Given the description of an element on the screen output the (x, y) to click on. 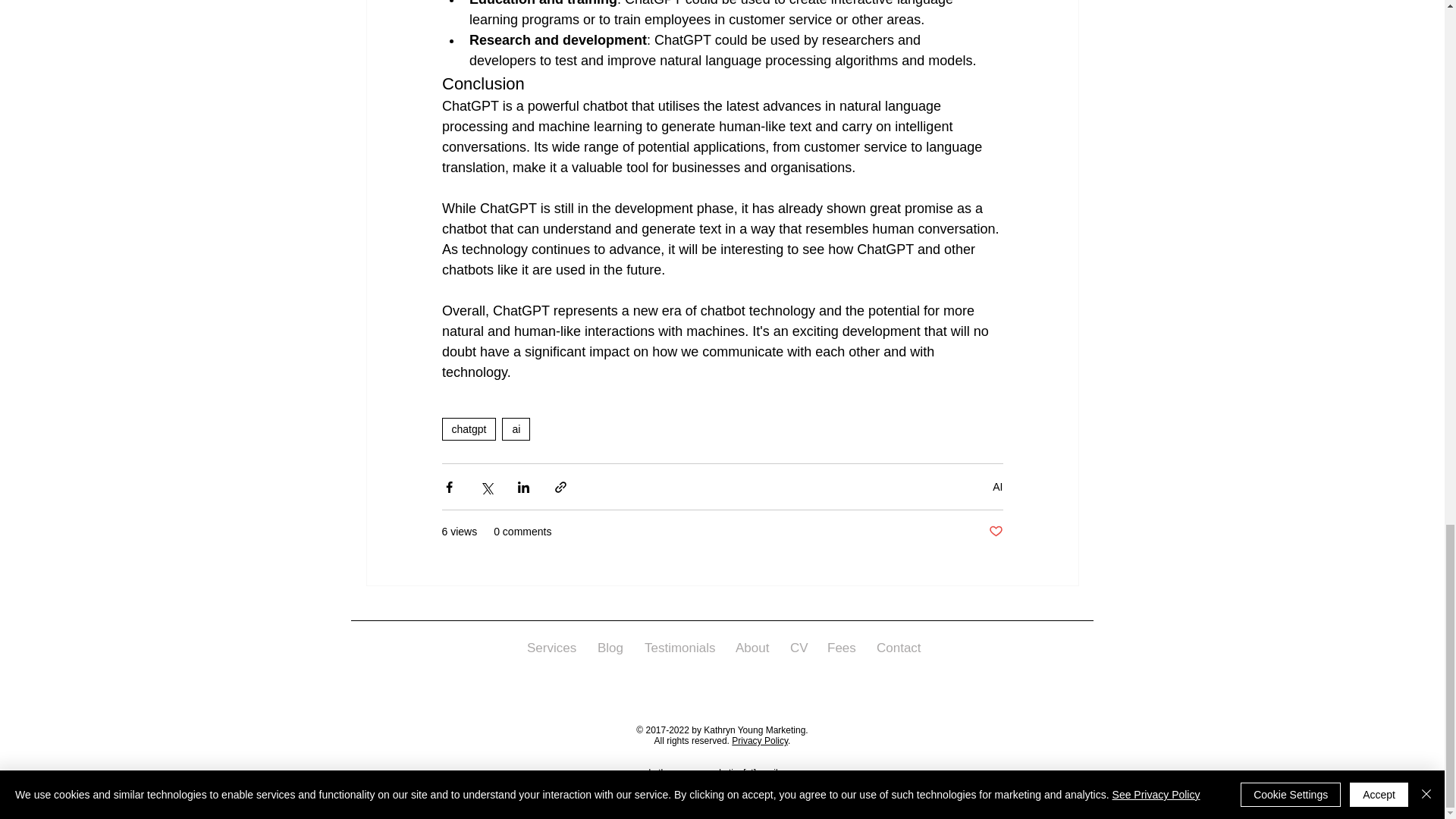
ai (515, 428)
Post not marked as liked (995, 531)
Testimonials (678, 648)
Fees (839, 648)
About (750, 648)
Contact (896, 648)
Services (550, 648)
chatgpt (468, 428)
Blog (609, 648)
CV (796, 648)
